Given the description of an element on the screen output the (x, y) to click on. 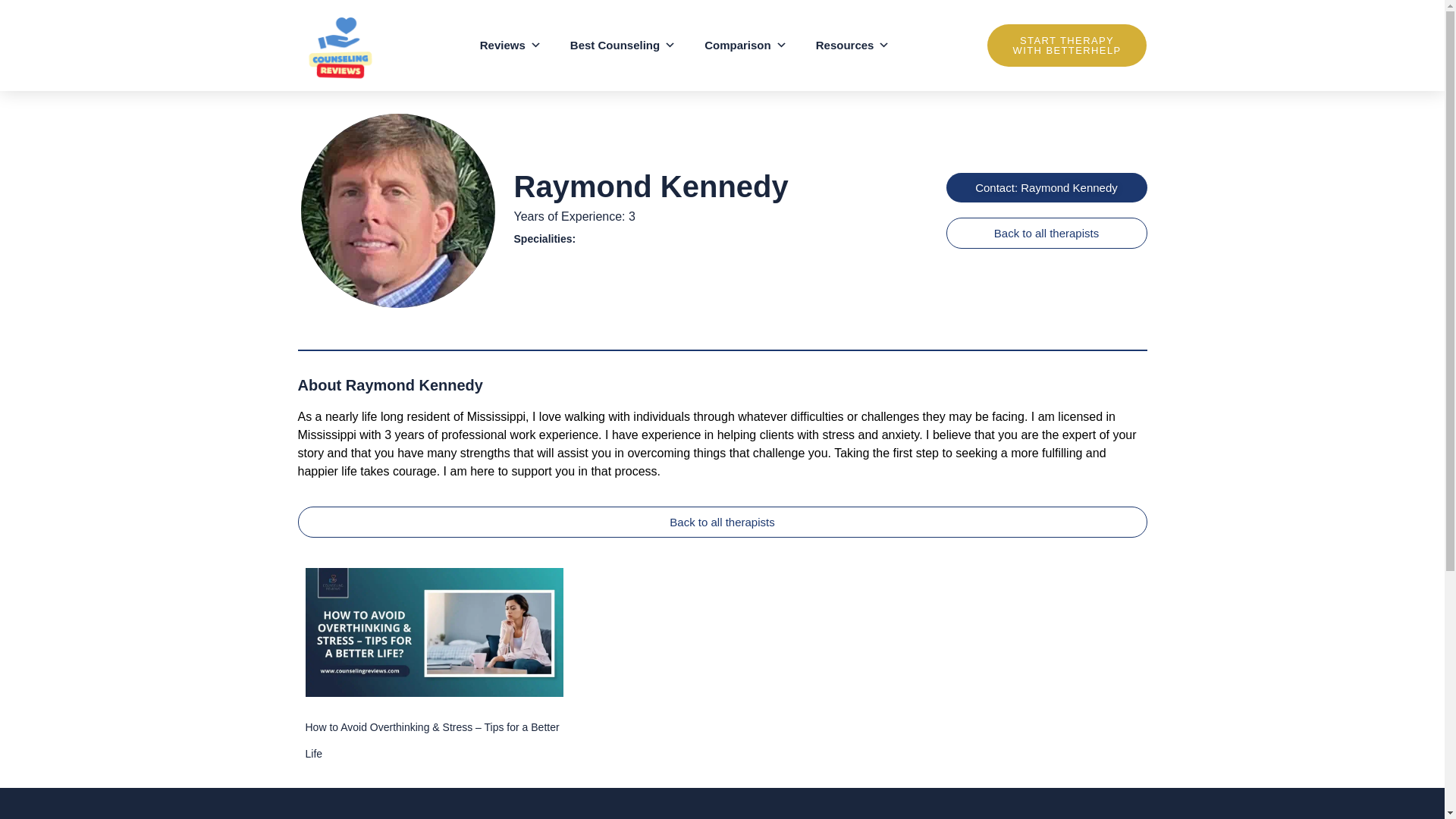
Comparison (746, 45)
Best Counseling (623, 45)
Reviews (510, 45)
